Given the description of an element on the screen output the (x, y) to click on. 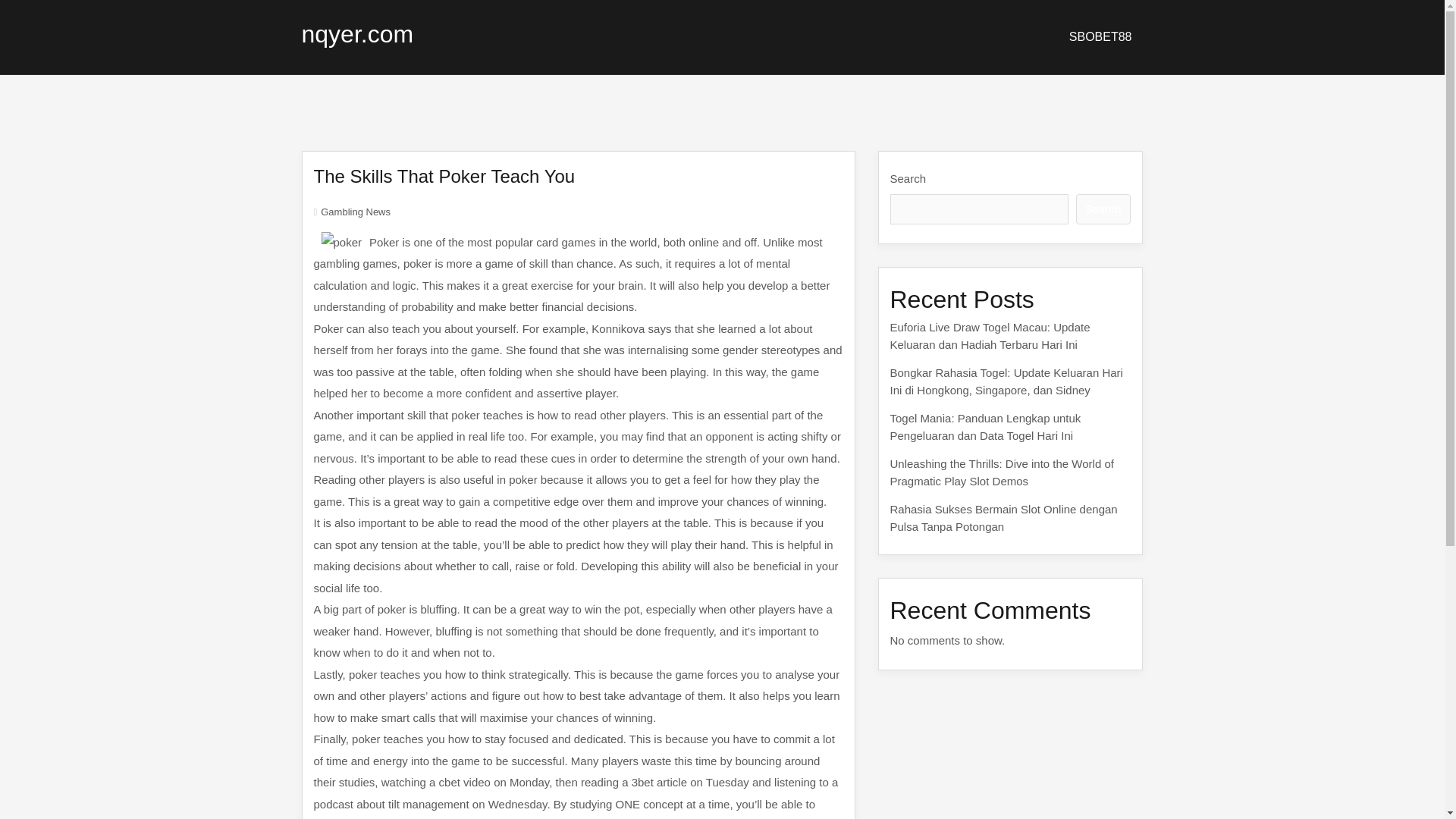
SBOBET88 (1100, 36)
SBOBET88 (1100, 36)
Gambling News (355, 211)
nqyer.com (357, 33)
The Skills That Poker Teach You (444, 176)
Search (1103, 209)
